Given the description of an element on the screen output the (x, y) to click on. 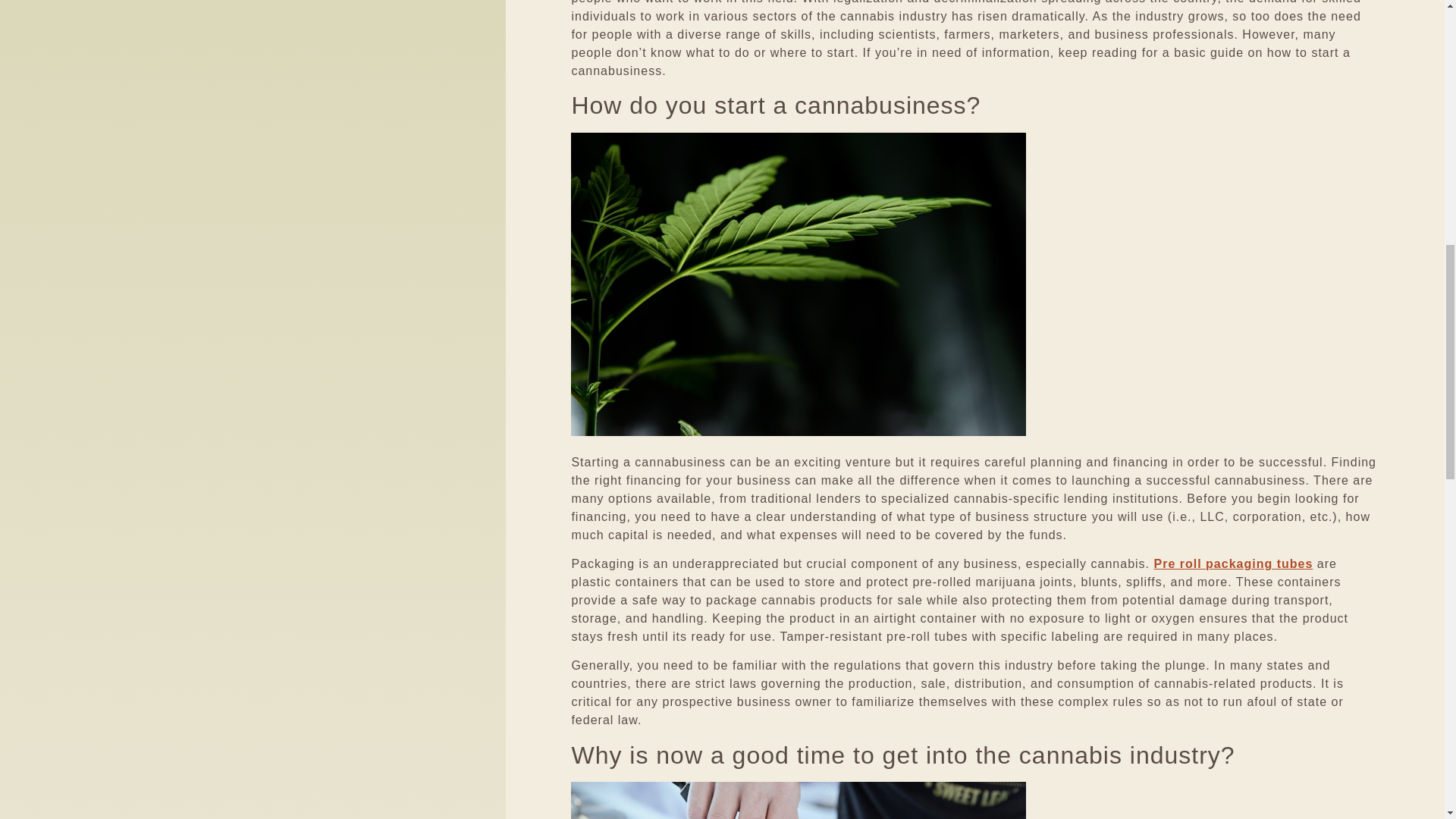
Pre roll packaging tubes (1233, 563)
